Given the description of an element on the screen output the (x, y) to click on. 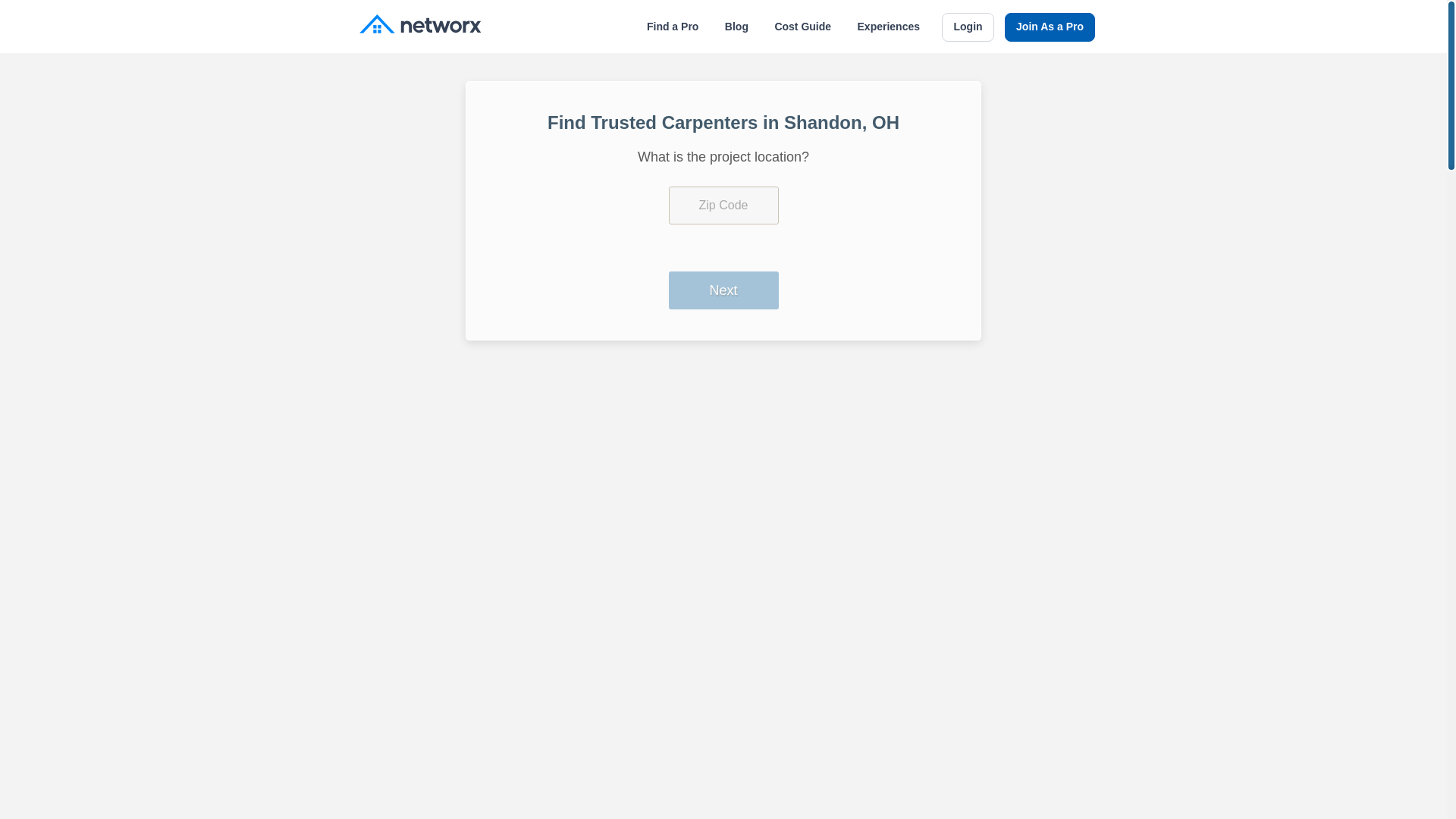
Networx (419, 25)
Find a Pro (672, 26)
Join As a Pro (1049, 27)
Cost Guide (802, 26)
Login (967, 27)
Experiences (888, 26)
Next (723, 290)
Please enter a valid zip code (723, 205)
